Given the description of an element on the screen output the (x, y) to click on. 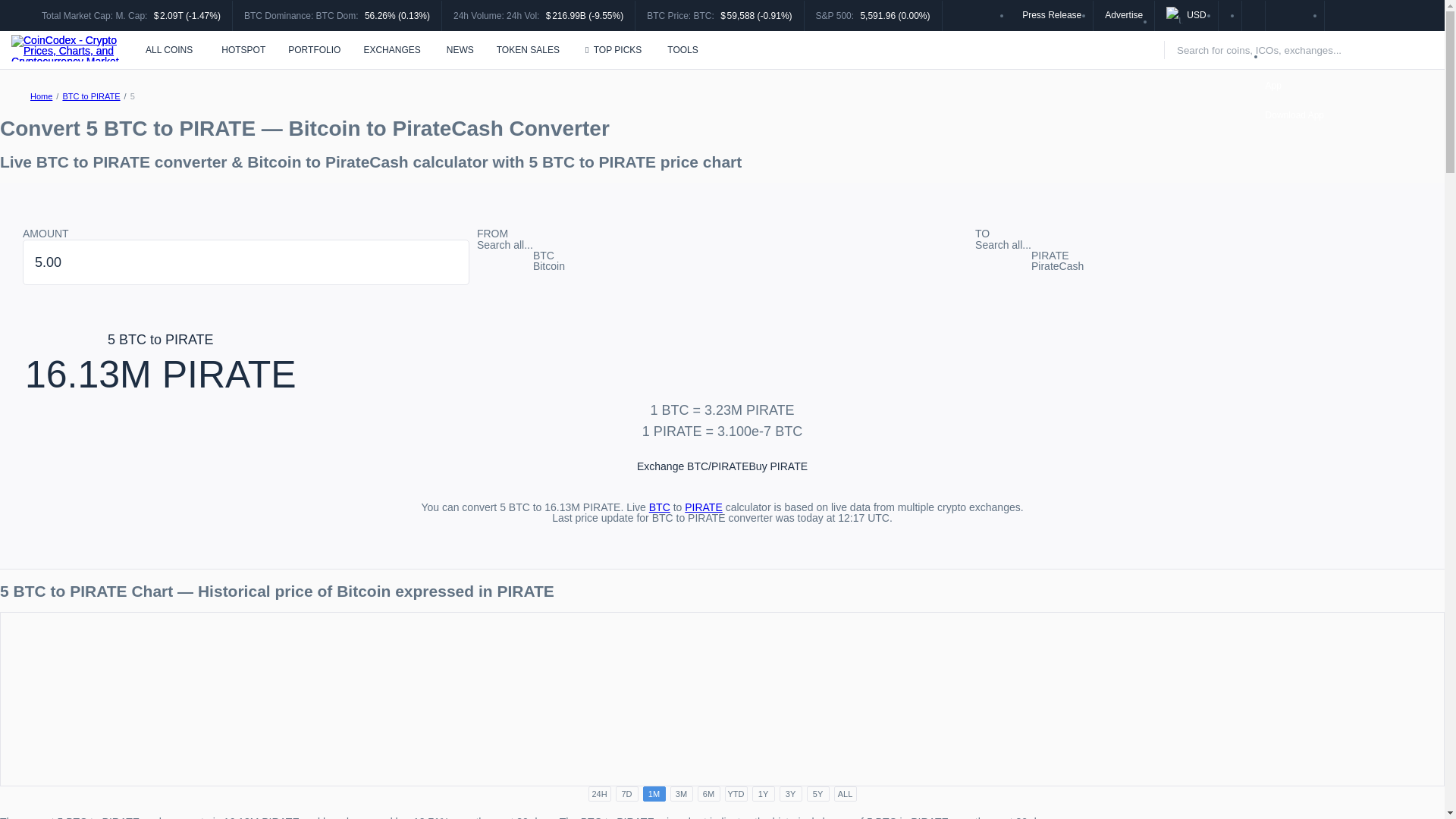
5.00 (245, 262)
Buy PIRATE (778, 466)
HOTSPOT (241, 49)
BTC (659, 507)
BTC to PIRATE (90, 95)
PIRATE (703, 507)
Press Release (1051, 14)
Home (41, 95)
PORTFOLIO (314, 49)
NEWS (459, 49)
